Given the description of an element on the screen output the (x, y) to click on. 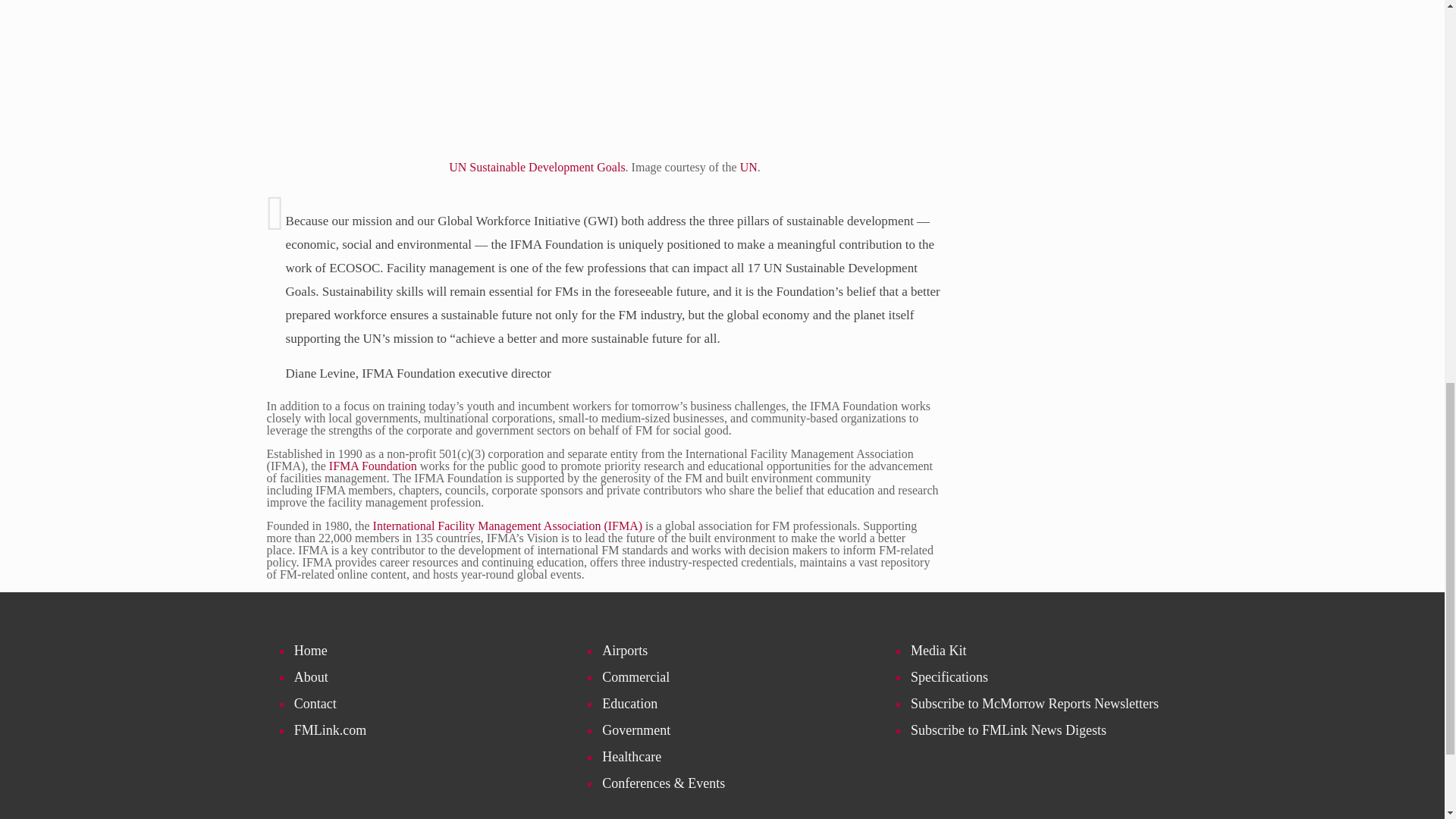
Contact (421, 704)
UN (748, 166)
About (421, 677)
FMLink.com (421, 730)
Education (729, 704)
IFMA Foundation (372, 465)
Government (729, 730)
Airports (729, 651)
Home (421, 651)
Commercial (729, 677)
UN Sustainable Development Goals (536, 166)
